Given the description of an element on the screen output the (x, y) to click on. 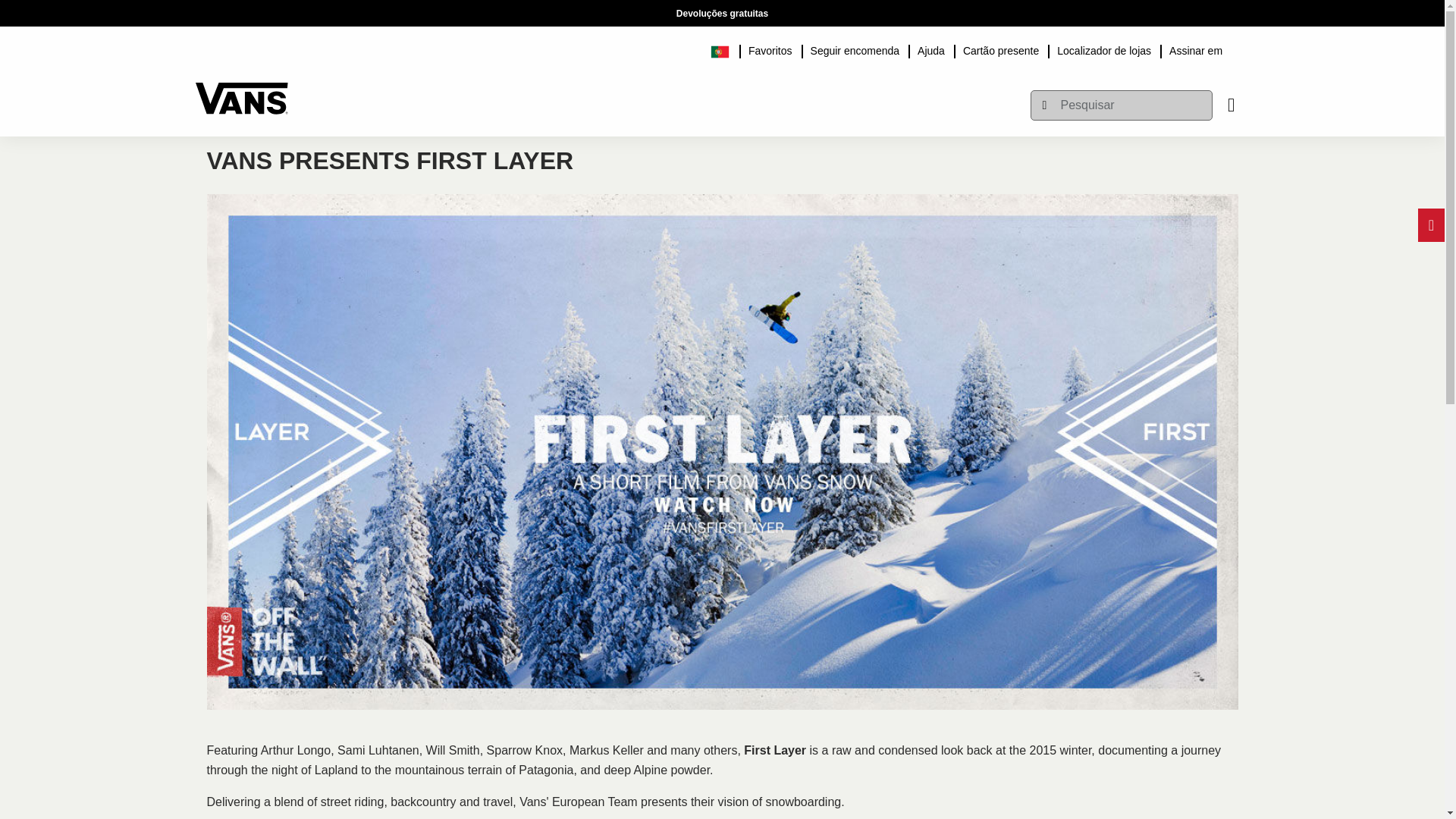
Assinar em (1195, 48)
Ajuda (930, 48)
Localizador de lojas (1104, 48)
Seguir encomenda (855, 48)
Vans (241, 91)
Favoritos (770, 48)
